Given the description of an element on the screen output the (x, y) to click on. 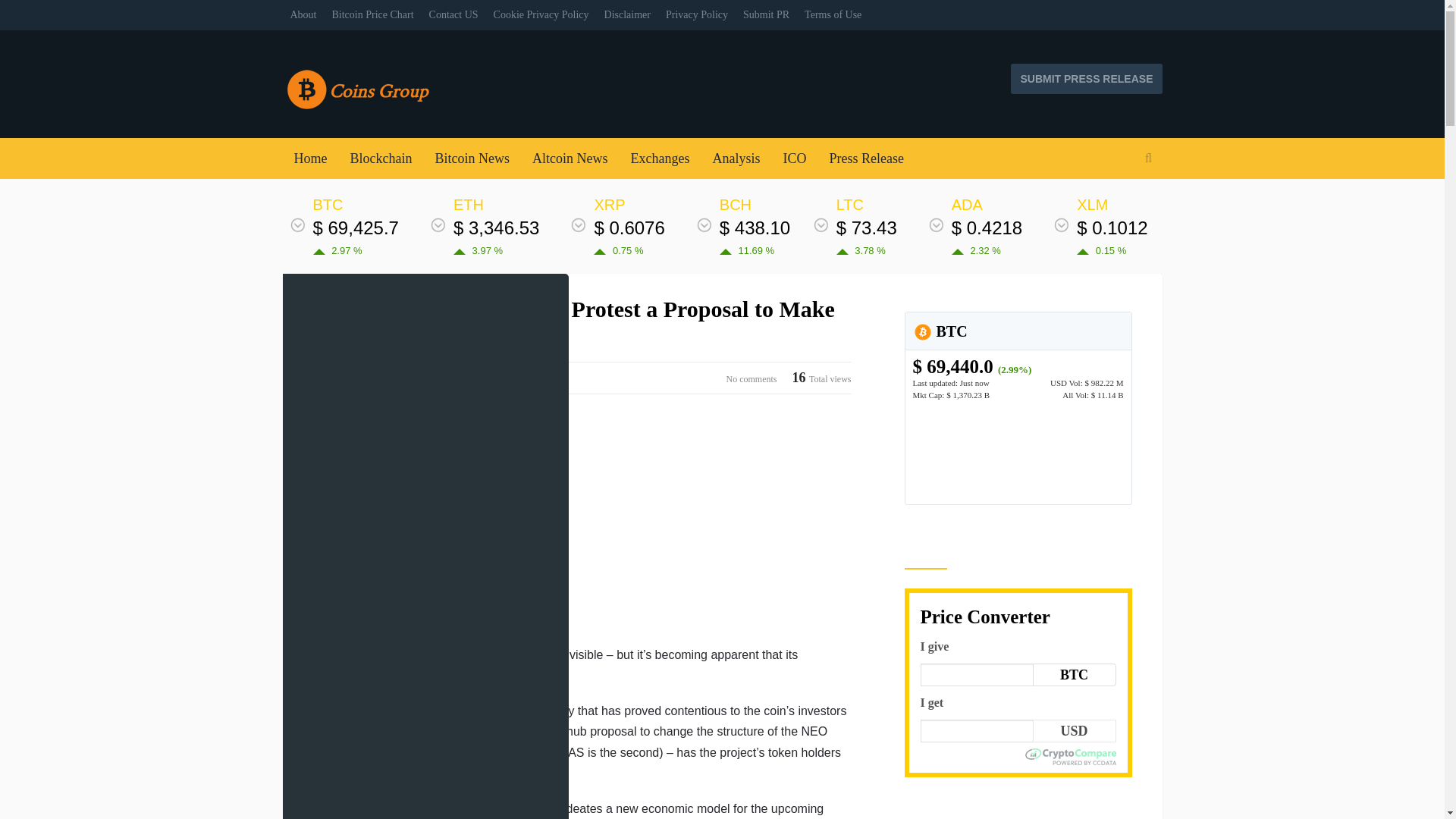
Blockchain (380, 158)
Bitcoin Price Chart (373, 15)
View all posts in ICO (320, 377)
Contact US (454, 15)
Cookie Privacy Policy (541, 15)
Disclaimer (627, 15)
Terms of Use (832, 15)
Privacy Policy (696, 15)
Views (821, 377)
Home (309, 158)
Analysis (735, 158)
ICO (793, 158)
Bitcoin News (472, 158)
BTC Price and market cap (972, 366)
Exchanges (659, 158)
